Given the description of an element on the screen output the (x, y) to click on. 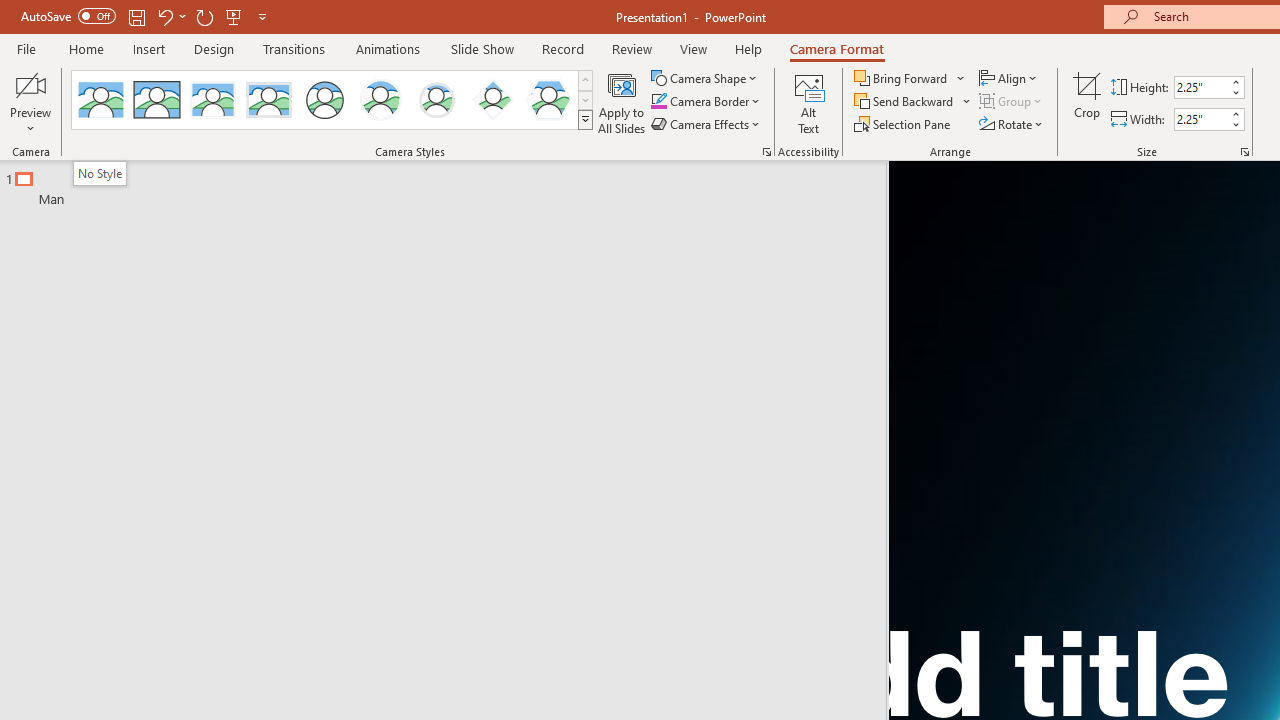
Bring Forward (910, 78)
